Given the description of an element on the screen output the (x, y) to click on. 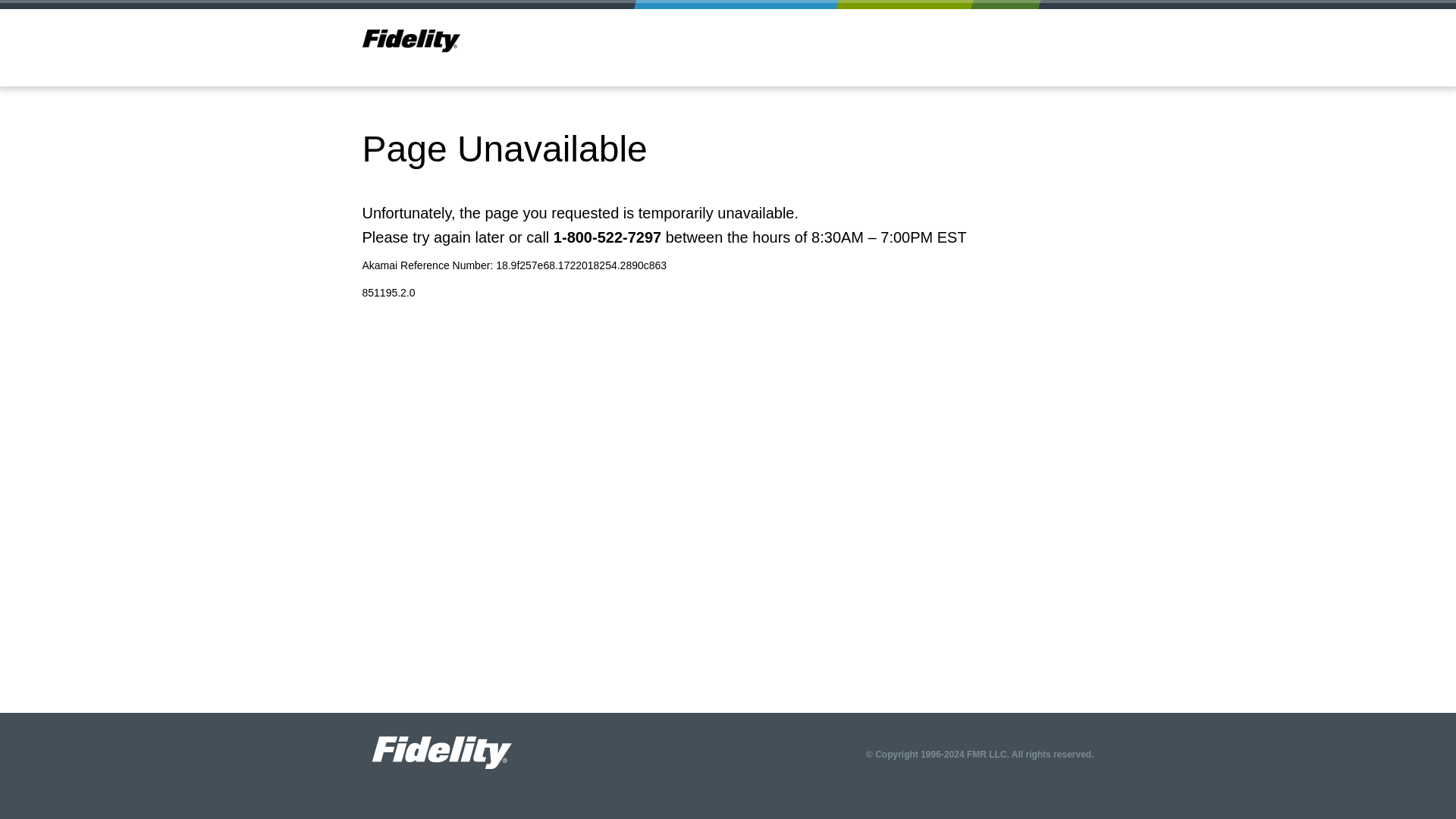
1-800-522-7297 (607, 237)
